Given the description of an element on the screen output the (x, y) to click on. 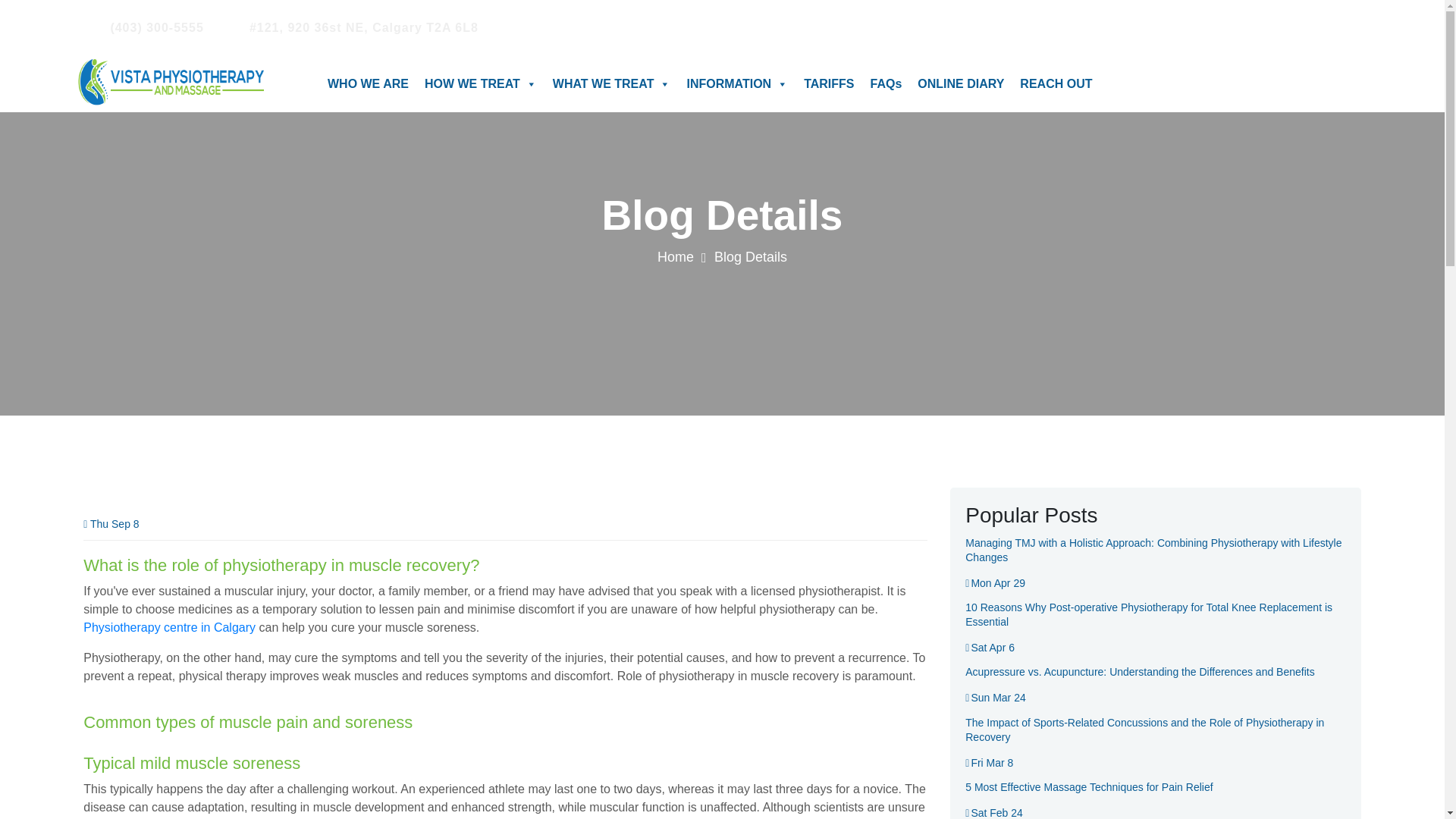
HOW WE TREAT (480, 84)
INFORMATION (737, 84)
WHAT WE TREAT (612, 84)
WHO WE ARE (367, 84)
Request An Appointment (1274, 27)
